Given the description of an element on the screen output the (x, y) to click on. 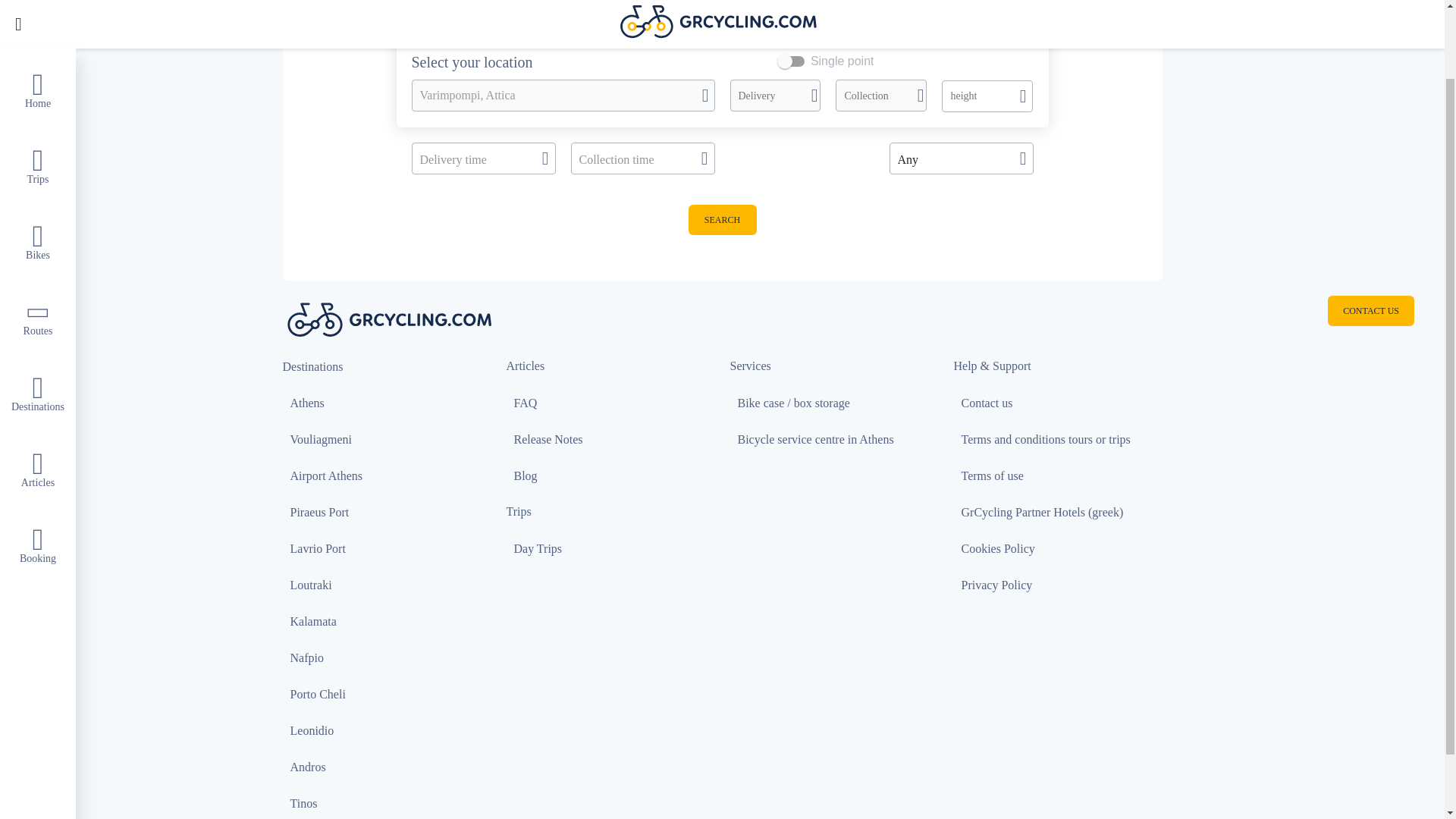
Trips (37, 84)
Terms and conditions tours or trips (1060, 448)
Loutraki (389, 594)
Contact us (1060, 411)
Andros (389, 776)
Blog (613, 484)
Nafpio (389, 667)
Destinations (37, 312)
FAQ (613, 411)
Privacy Policy (1060, 594)
Leonidio (389, 739)
Home (37, 17)
Airport Athens (389, 484)
Lavrio Port (389, 557)
